Given the description of an element on the screen output the (x, y) to click on. 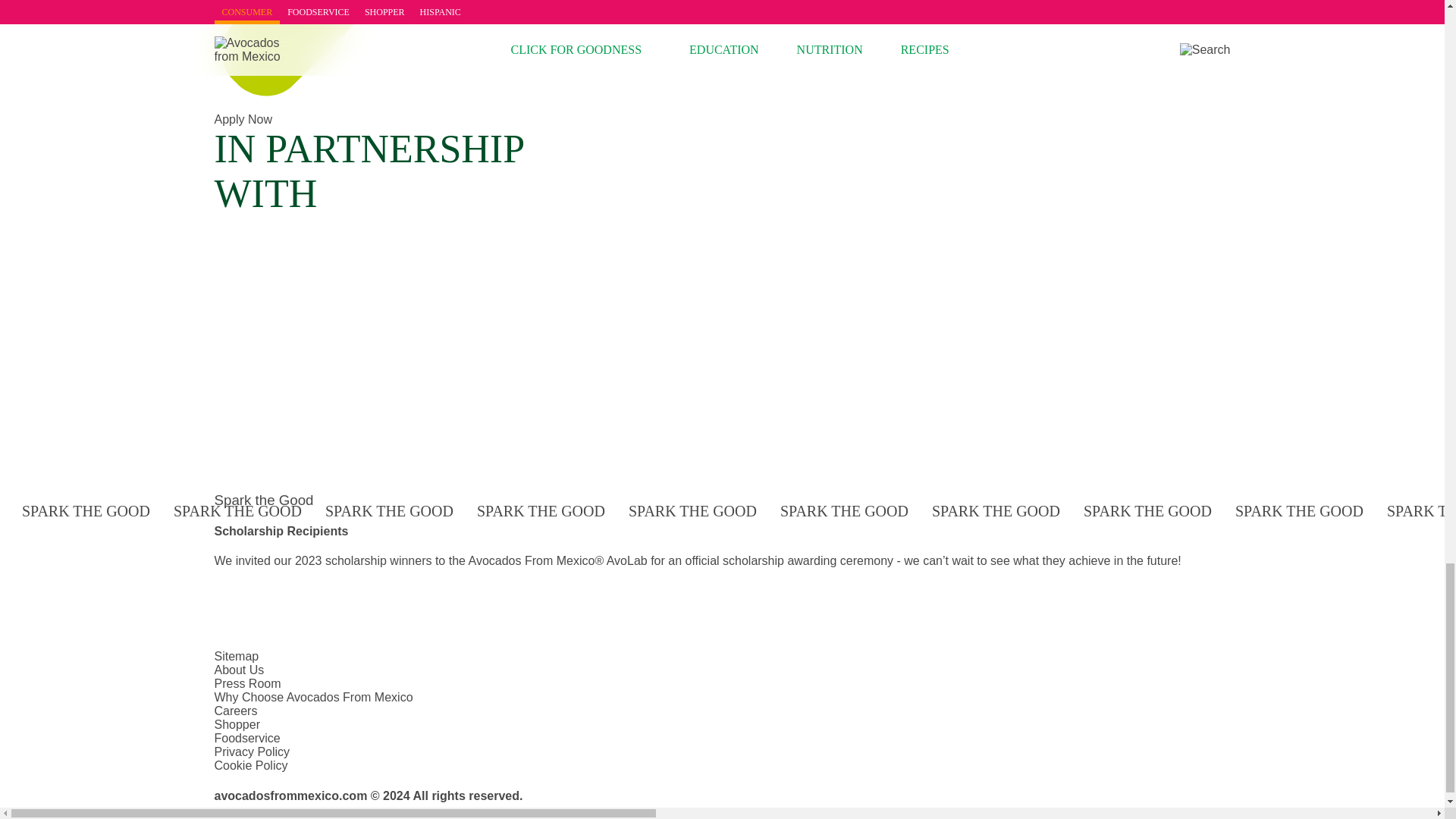
Partner site (281, 454)
Apply Now (422, 112)
Partner site (257, 335)
